Given the description of an element on the screen output the (x, y) to click on. 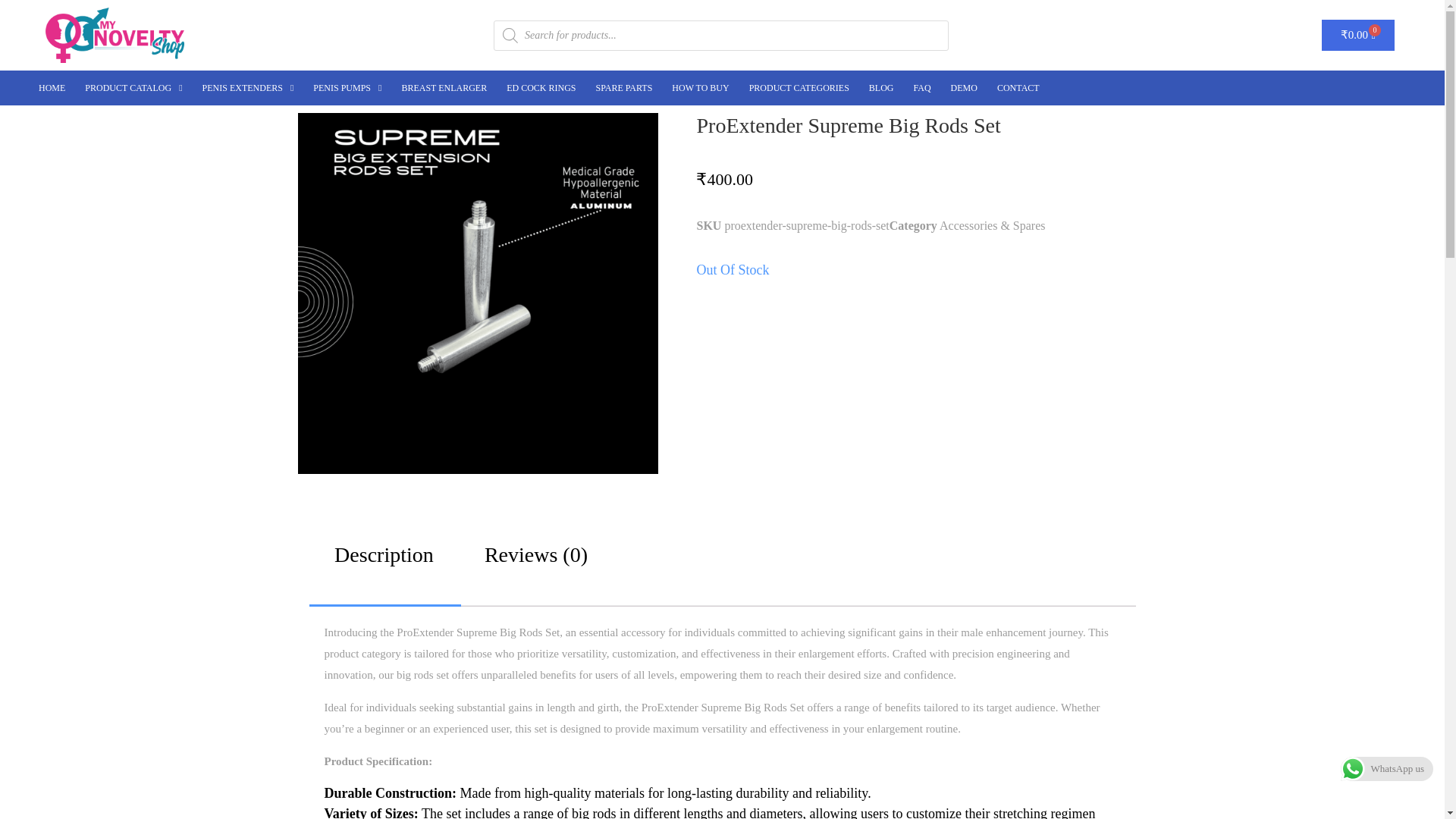
HOME (52, 87)
PENIS PUMPS (346, 87)
DEMO (963, 87)
CONTACT (1018, 87)
PRODUCT CATEGORIES (799, 87)
PENIS EXTENDERS (248, 87)
FAQ (921, 87)
PRODUCT CATALOG (133, 87)
BREAST ENLARGER (443, 87)
ED COCK RINGS (540, 87)
HOW TO BUY (700, 87)
BLOG (881, 87)
proextender-supreme-big-extension-rods-set (477, 293)
SPARE PARTS (624, 87)
